Given the description of an element on the screen output the (x, y) to click on. 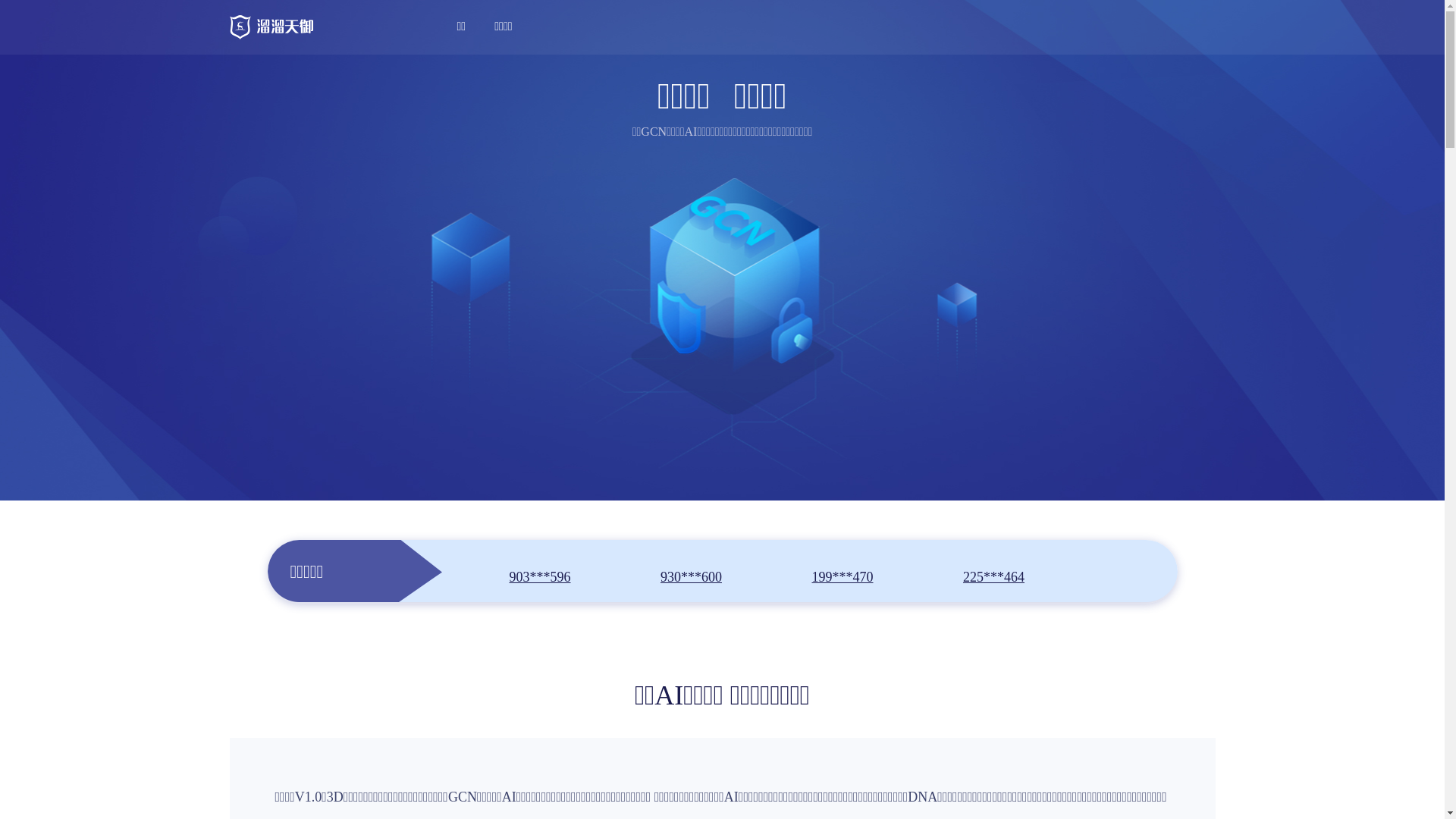
469***725 Element type: text (993, 569)
105***042 Element type: text (841, 569)
161***108 Element type: text (690, 569)
217***439 Element type: text (540, 569)
